Given the description of an element on the screen output the (x, y) to click on. 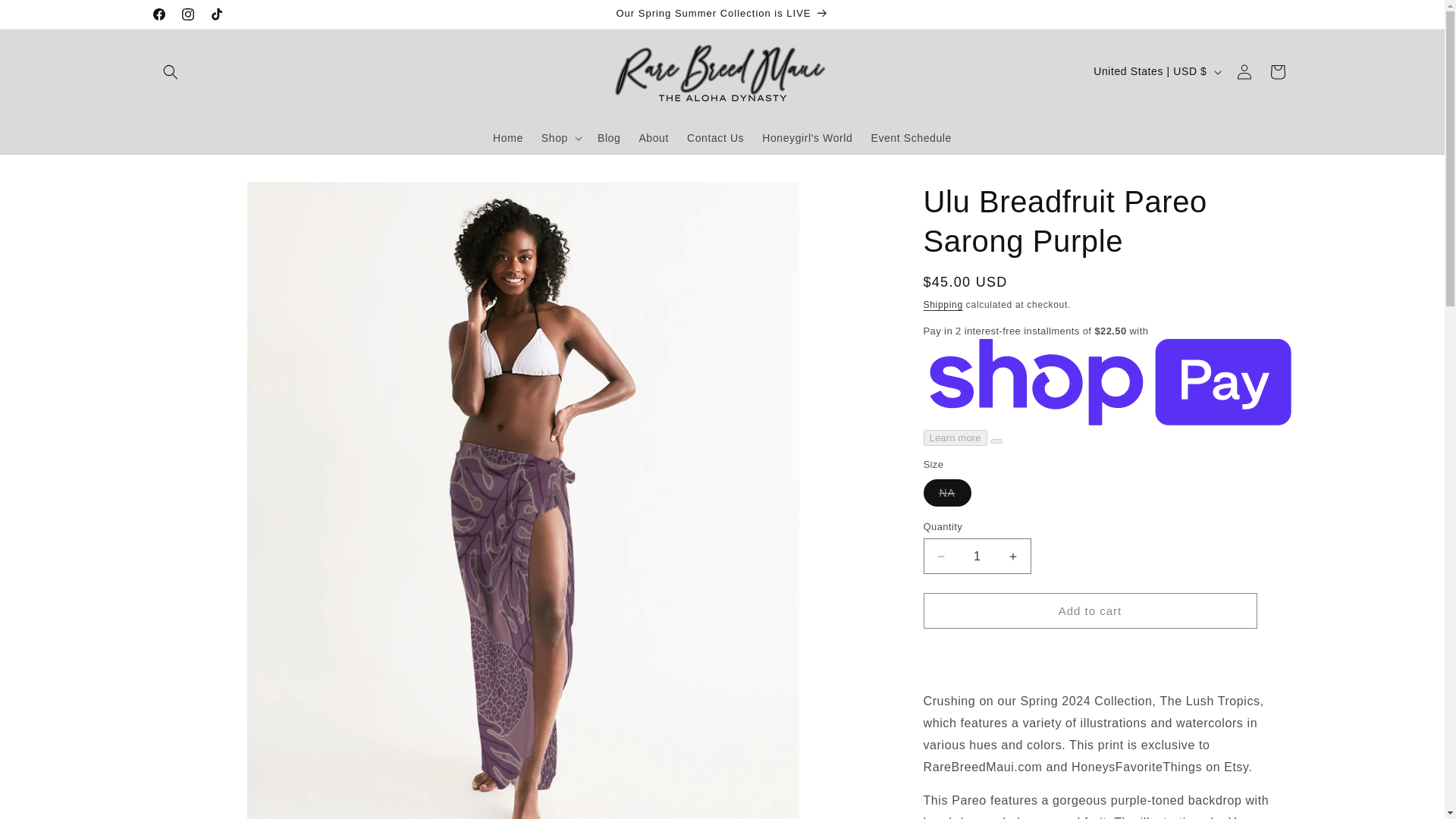
TikTok (216, 14)
Our Spring Summer Collection is LIVE (721, 14)
1 (976, 556)
Instagram (187, 14)
Facebook (158, 14)
Skip to content (45, 17)
